Given the description of an element on the screen output the (x, y) to click on. 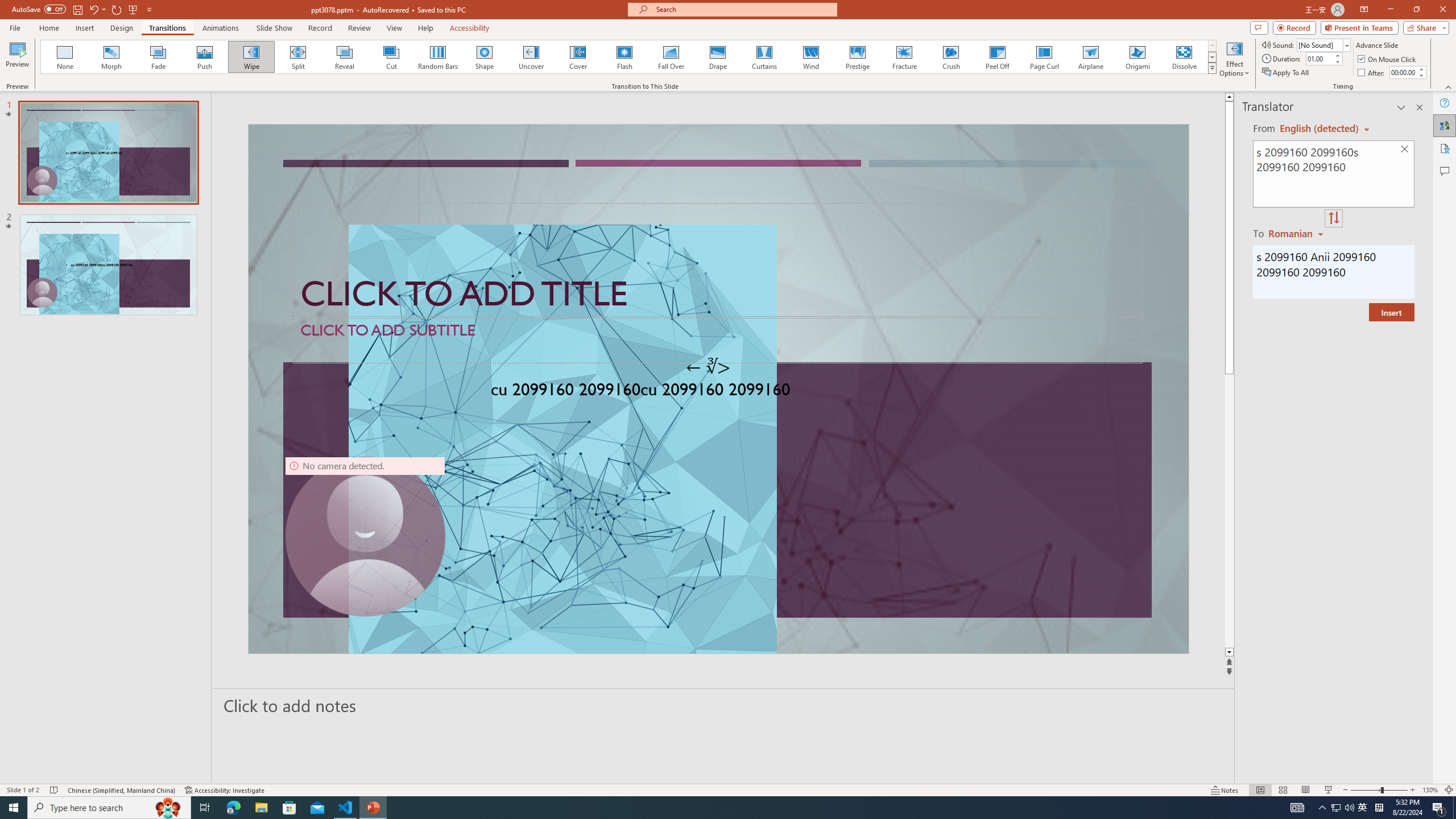
Drape (717, 56)
Transition Effects (1212, 67)
Swap "from" and "to" languages. (1333, 218)
After (1372, 72)
Fracture (903, 56)
AutomationID: AnimationTransitionGallery (628, 56)
TextBox 7 (708, 367)
Spell Check No Errors (54, 790)
Uncover (531, 56)
Open (1345, 44)
Airplane (1090, 56)
Page down (1229, 511)
Morph (111, 56)
